Given the description of an element on the screen output the (x, y) to click on. 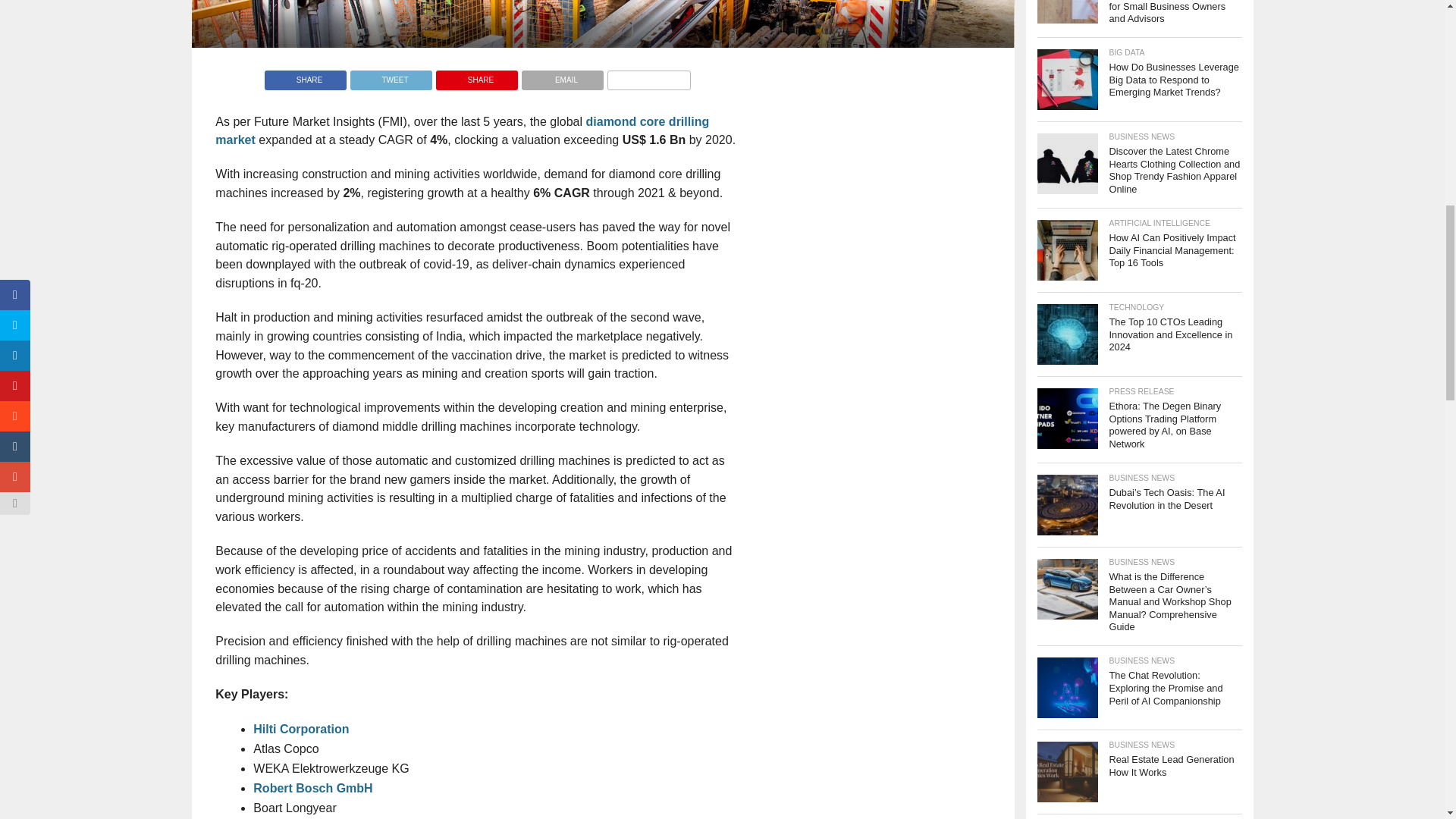
Share on Facebook (305, 75)
Tweet This Post (390, 75)
Pin This Post (476, 75)
